Given the description of an element on the screen output the (x, y) to click on. 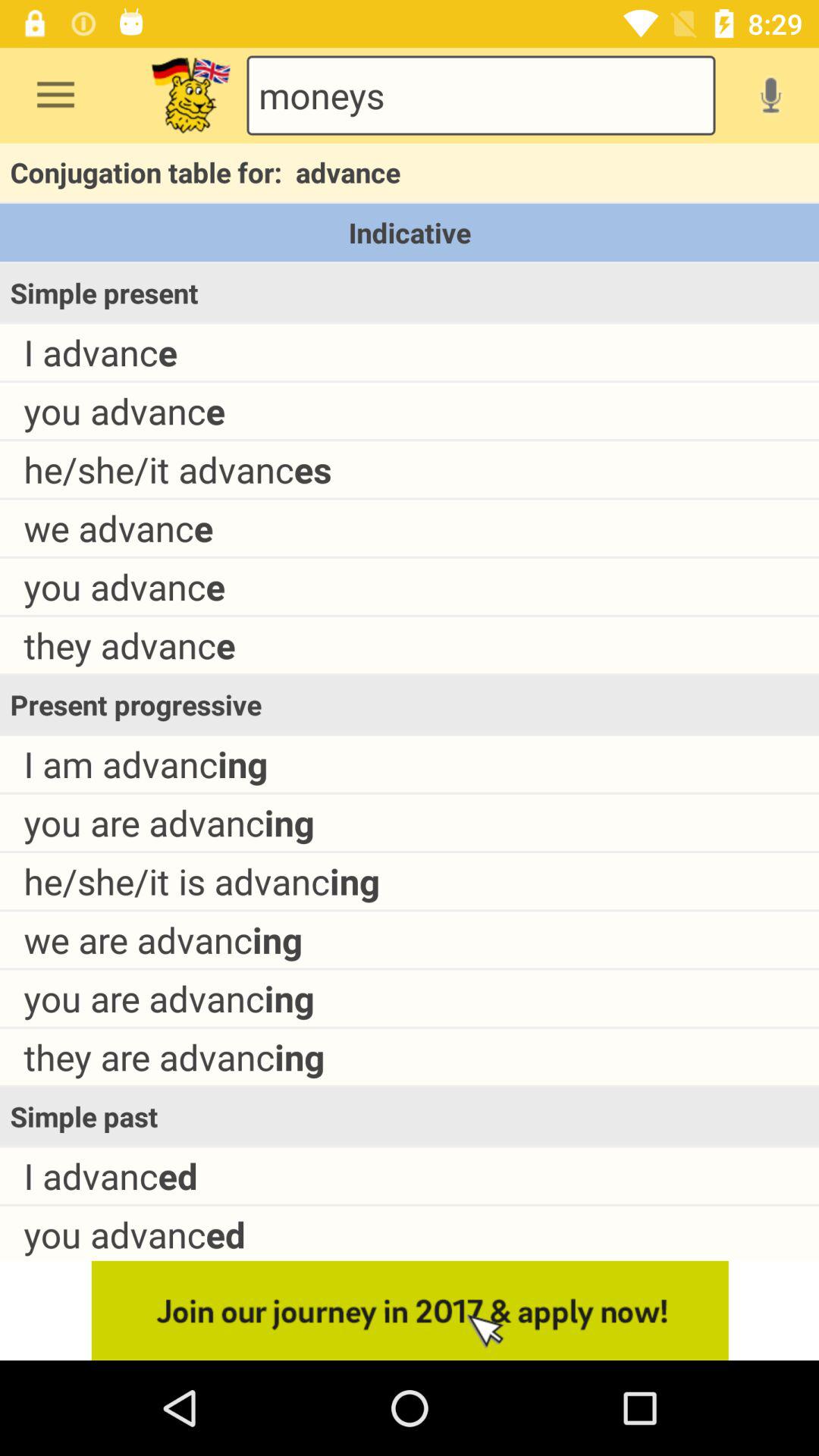
do a vocal search (770, 94)
